Given the description of an element on the screen output the (x, y) to click on. 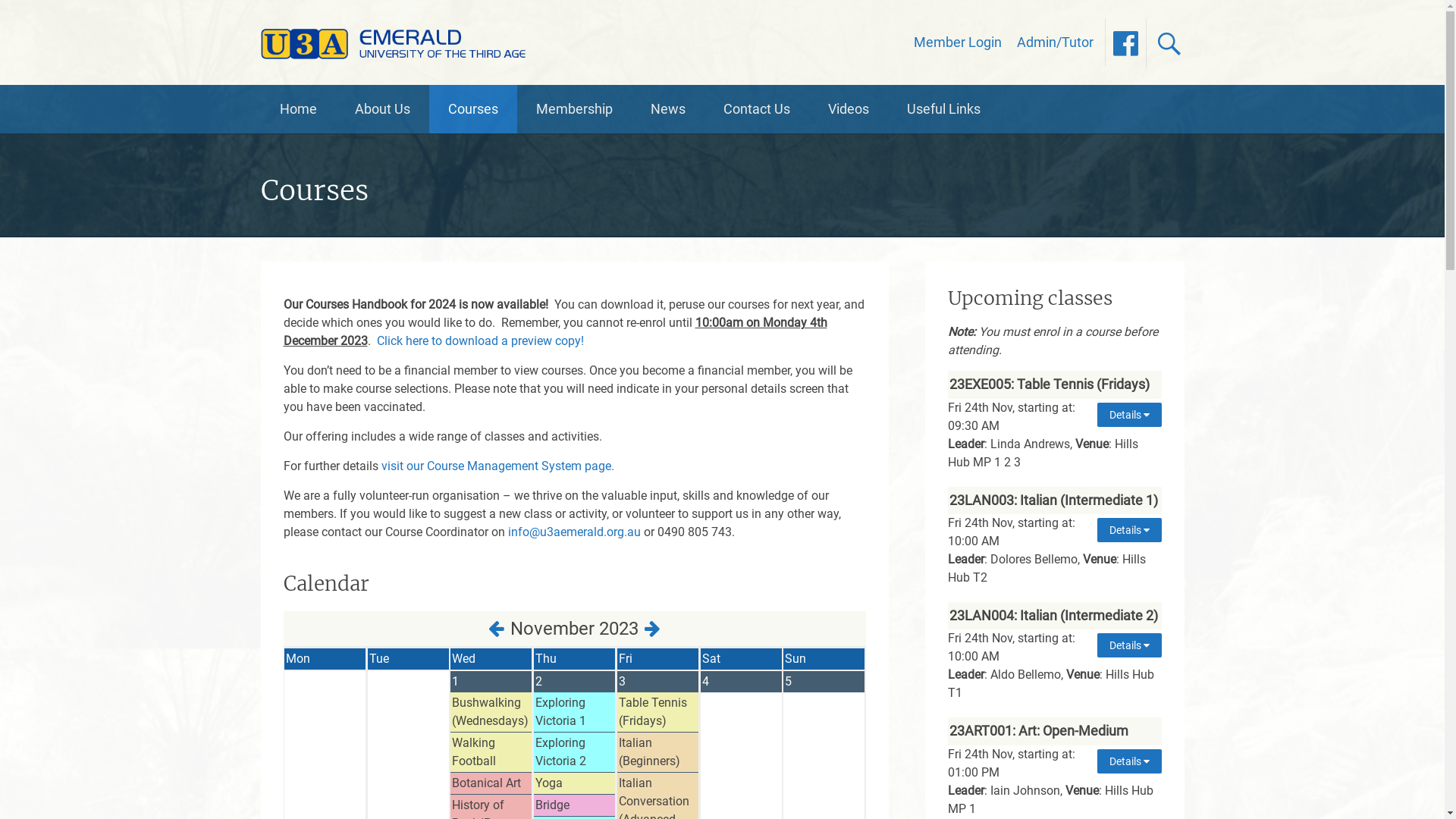
Member Login Element type: text (956, 42)
info@u3aemerald.org.au Element type: text (574, 531)
Home Element type: text (297, 108)
Membership Element type: text (574, 108)
Click here to download a preview copy! Element type: text (479, 340)
Useful Links Element type: text (942, 108)
Details Element type: text (1128, 529)
Facebook link Element type: hover (1124, 42)
Details Element type: text (1128, 414)
Details Element type: text (1128, 645)
Search Element type: text (29, 12)
About Us Element type: text (381, 108)
Contact Us Element type: text (755, 108)
News Element type: text (666, 108)
Courses Element type: text (473, 108)
Details Element type: text (1128, 761)
Videos Element type: text (847, 108)
U3A Emerald Element type: hover (396, 42)
visit our Course Management System page. Element type: text (496, 465)
Skip to content Element type: text (278, 84)
Admin/Tutor Element type: text (1054, 42)
